Given the description of an element on the screen output the (x, y) to click on. 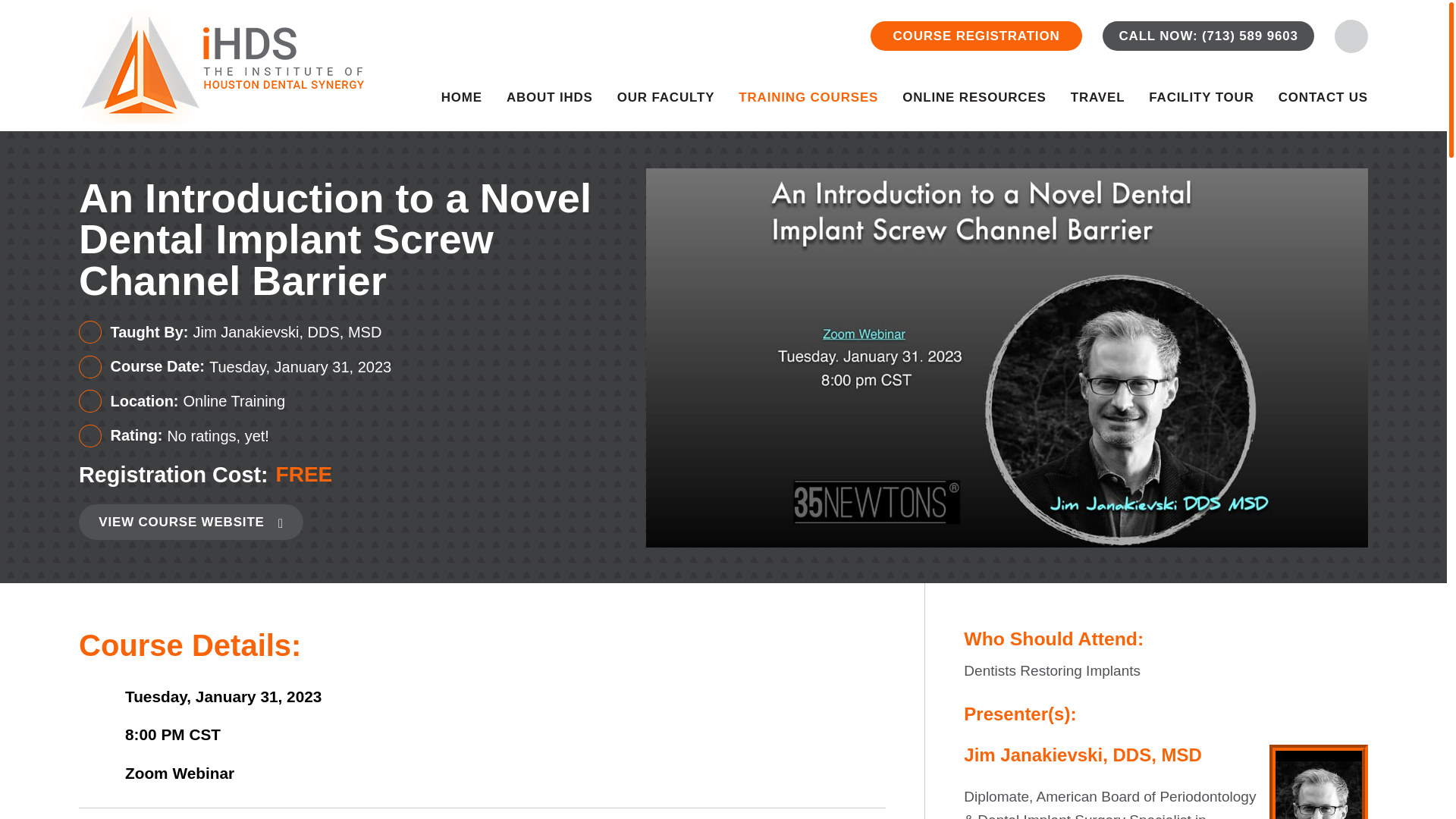
TRAINING COURSES (807, 105)
TRAVEL (1097, 105)
COURSE REGISTRATION (975, 35)
ONLINE RESOURCES (974, 105)
OUR FACULTY (665, 105)
HOME (461, 105)
ABOUT IHDS (549, 105)
VIEW COURSE WEBSITE (190, 521)
CONTACT US (1323, 105)
ihds-logo-mobile (221, 65)
